Given the description of an element on the screen output the (x, y) to click on. 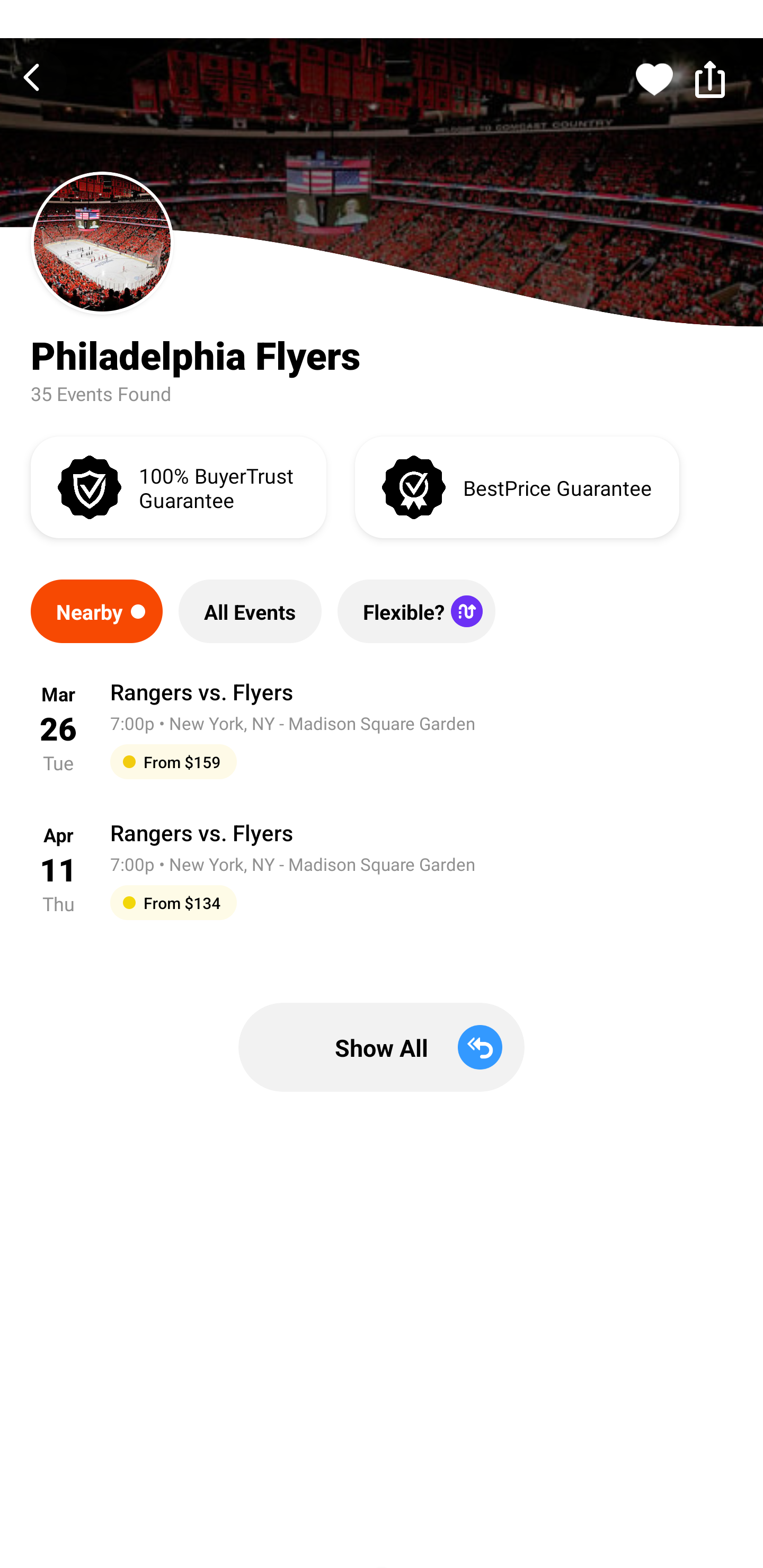
100% BuyerTrust Guarantee (178, 486)
BestPrice Guarantee (516, 486)
Nearby (96, 611)
All Events (249, 611)
Flexible? (416, 611)
Show All (381, 1047)
